Given the description of an element on the screen output the (x, y) to click on. 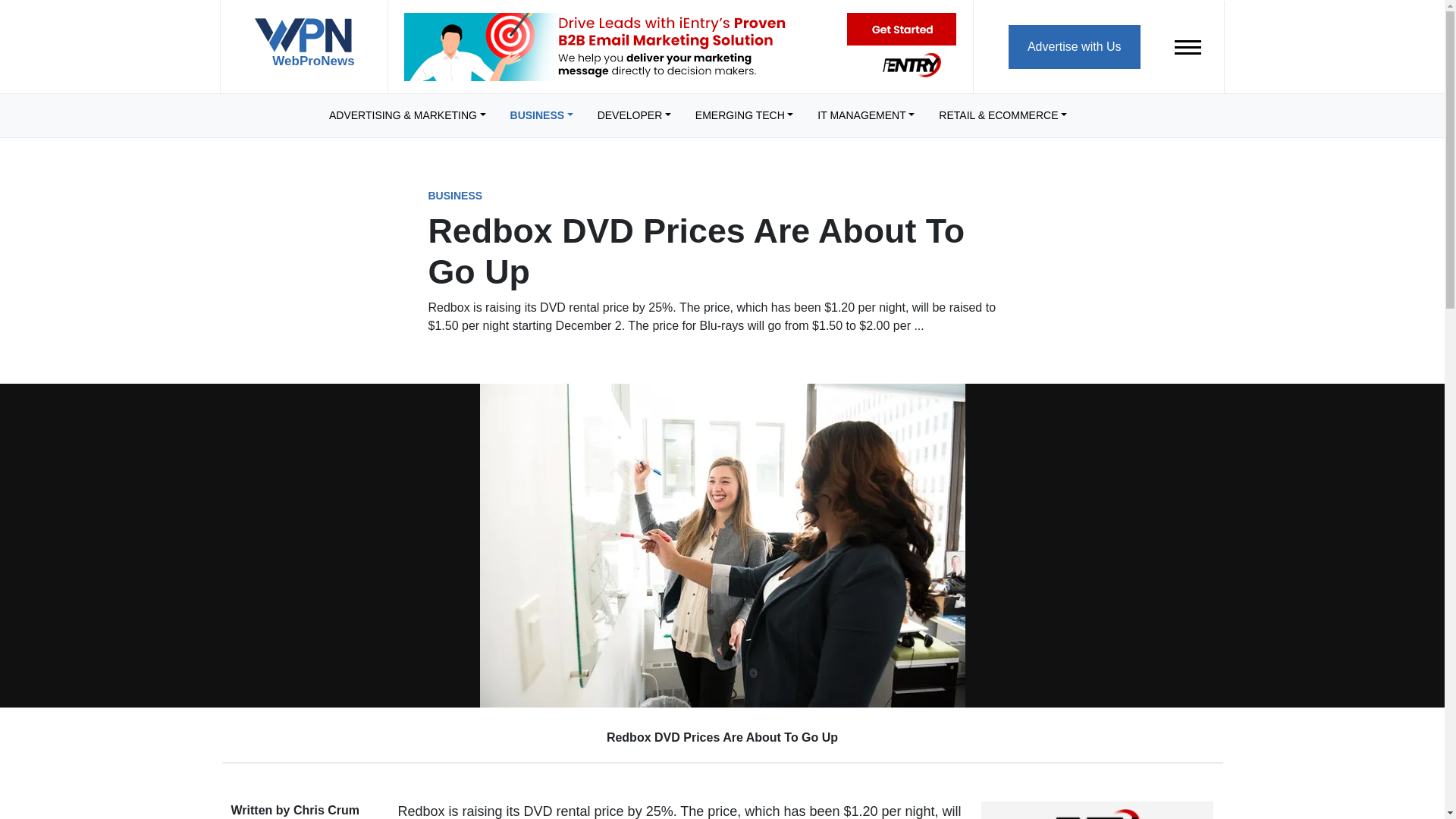
WebProNews (303, 49)
Advertise with Us (1074, 45)
